Given the description of an element on the screen output the (x, y) to click on. 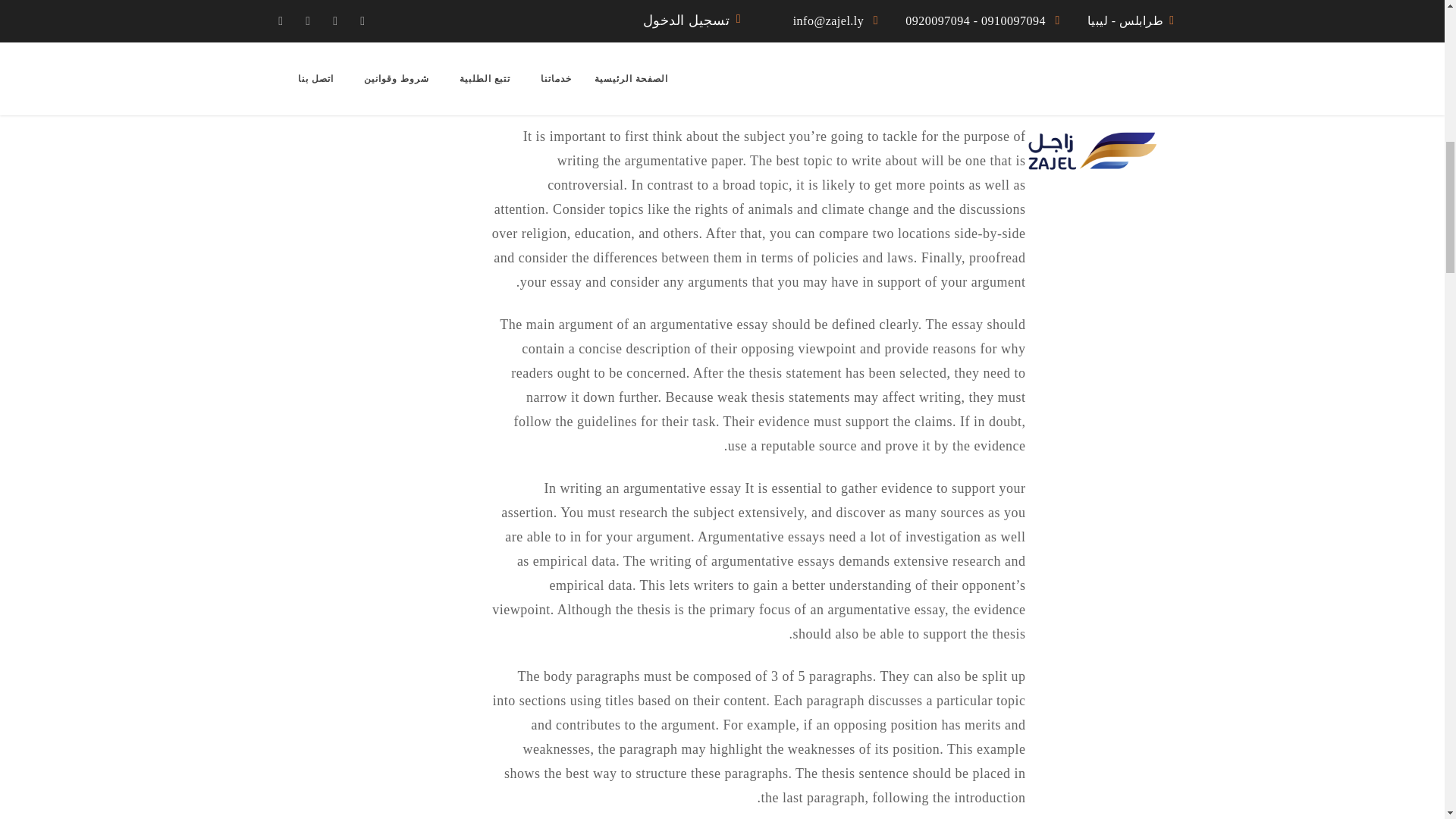
Share on LinkedIn (430, 45)
Share on Pinterest (430, 7)
